Given the description of an element on the screen output the (x, y) to click on. 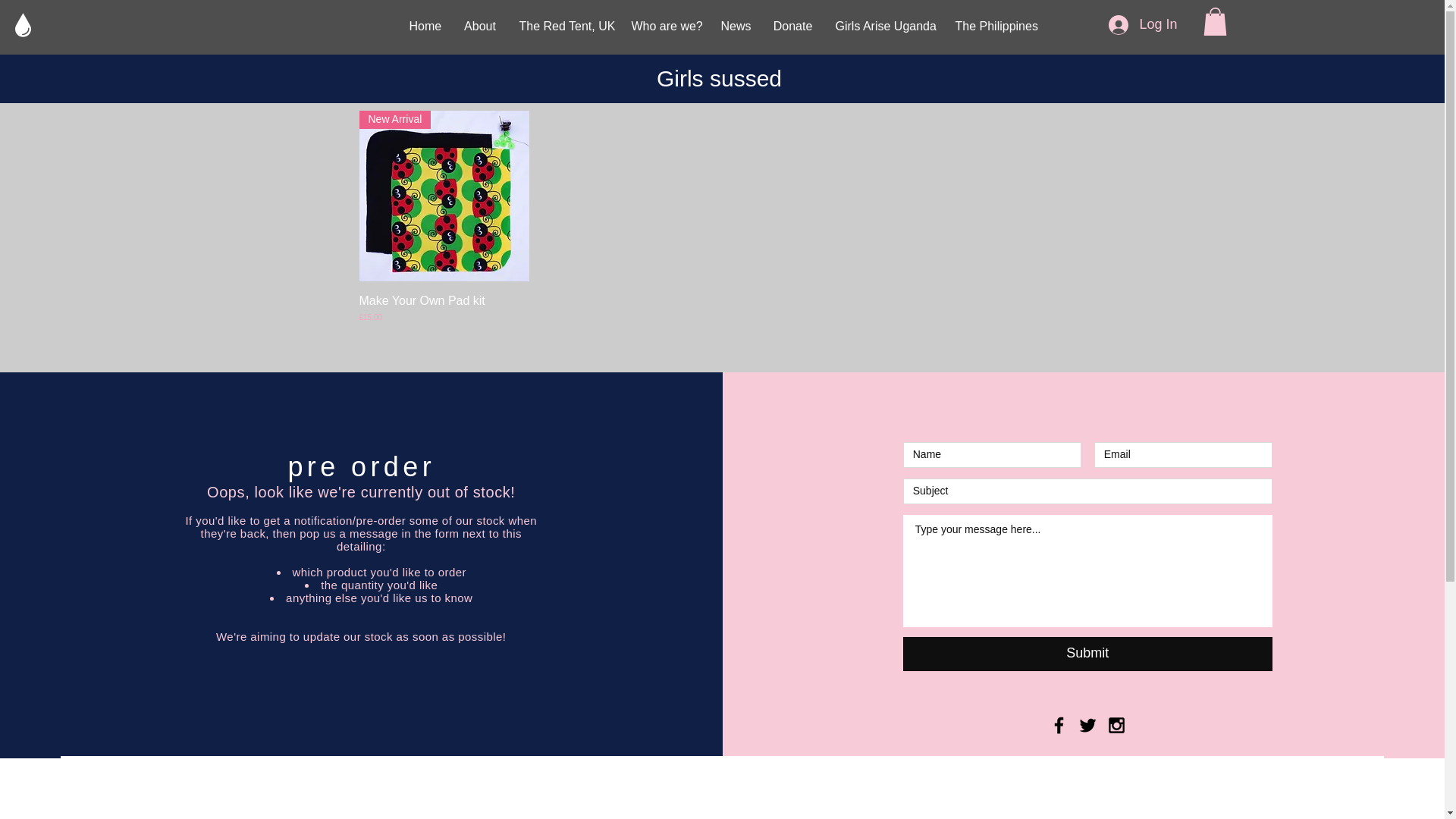
The Red Tent, UK (564, 26)
Home (424, 26)
Who are we? (665, 26)
About (478, 26)
News (735, 26)
Submit (1087, 653)
Log In (1142, 24)
New Arrival (444, 195)
Donate (792, 26)
Girls Arise Uganda (883, 26)
The Philippines (994, 26)
